Given the description of an element on the screen output the (x, y) to click on. 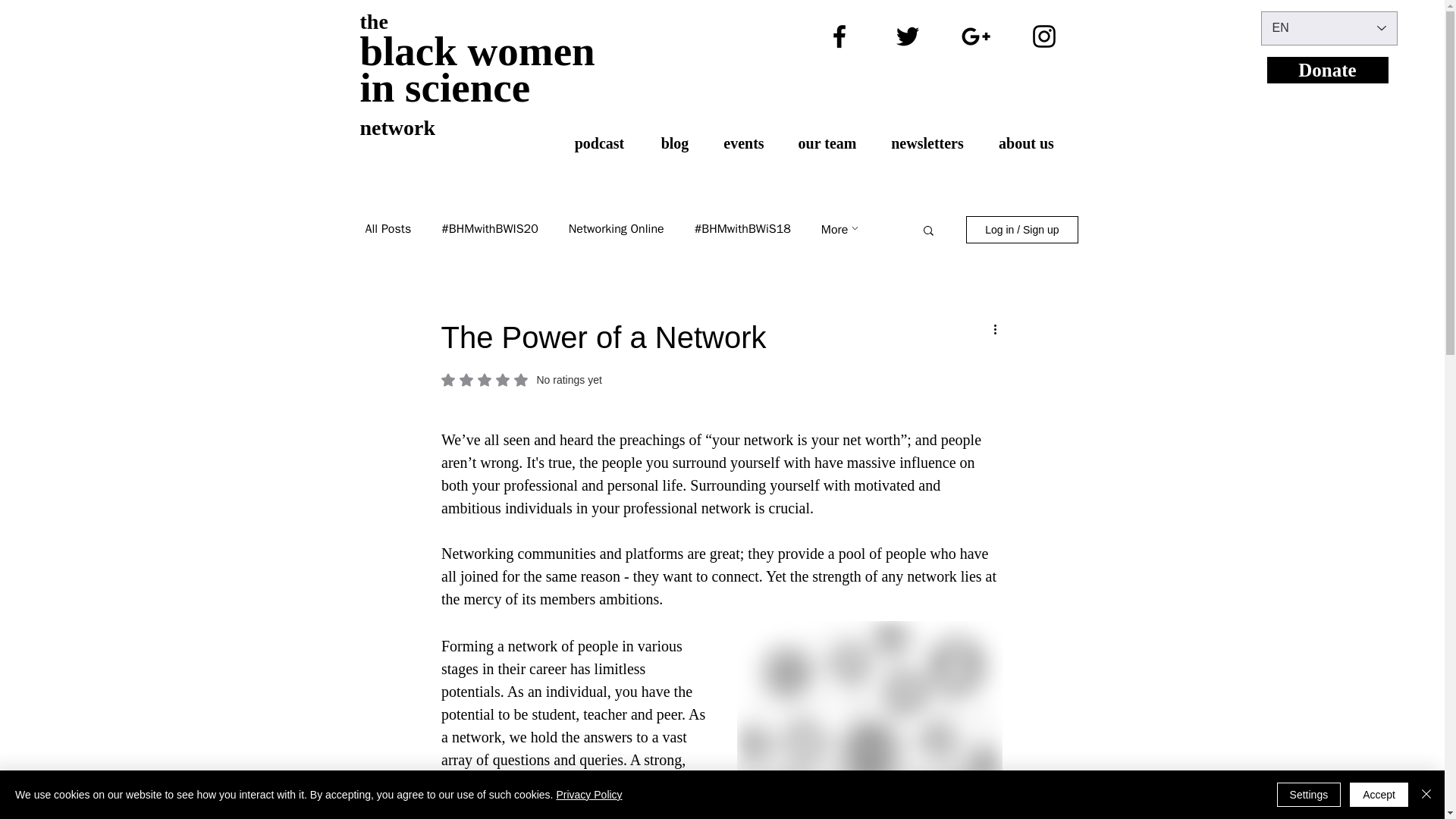
black women (476, 57)
the (373, 21)
our team (826, 143)
blog (674, 143)
events (743, 143)
about us (1025, 143)
newsletters (927, 143)
Donate (1326, 69)
Networking Online (616, 229)
podcast (598, 143)
